Given the description of an element on the screen output the (x, y) to click on. 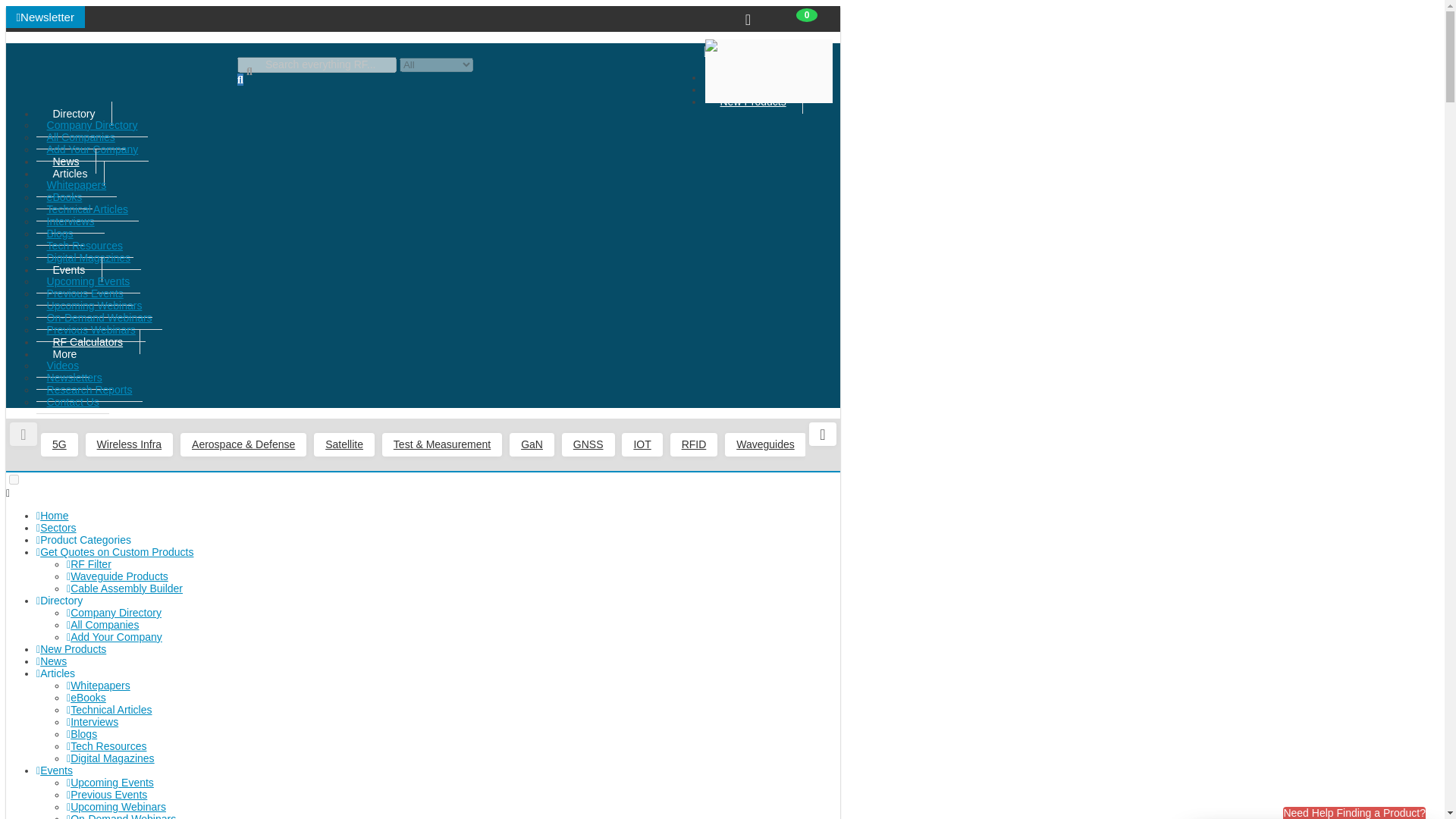
on (13, 479)
Product Categories (765, 77)
Sign In (771, 56)
Sign Up (772, 68)
Advertise with us (793, 44)
Newsletter (44, 16)
RFQ Cart (747, 19)
